Given the description of an element on the screen output the (x, y) to click on. 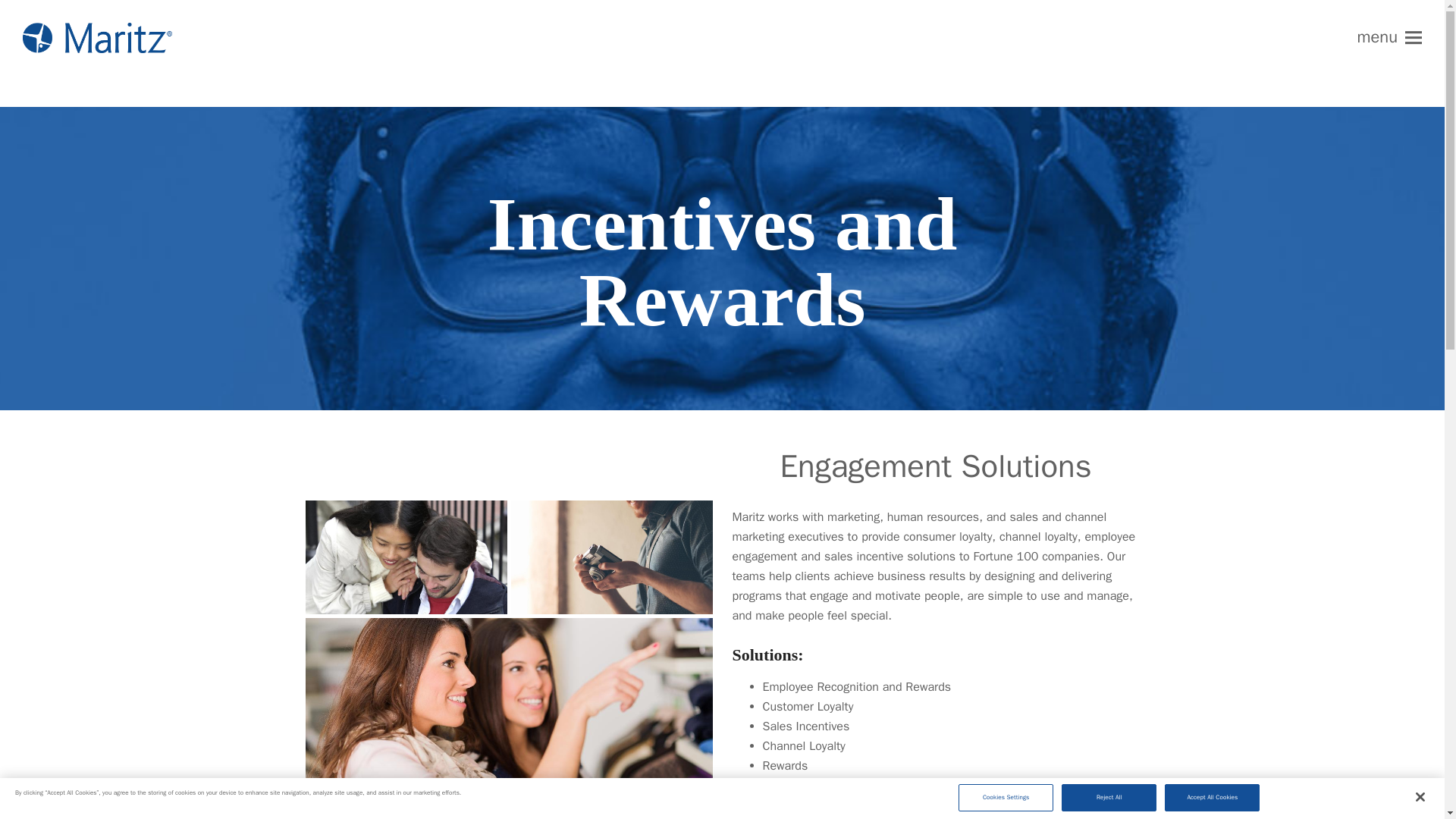
CUSTOMER LOYALTY PROGRAMS (820, 807)
EMPLOYEE REWARDS (984, 807)
menu (1389, 37)
